Given the description of an element on the screen output the (x, y) to click on. 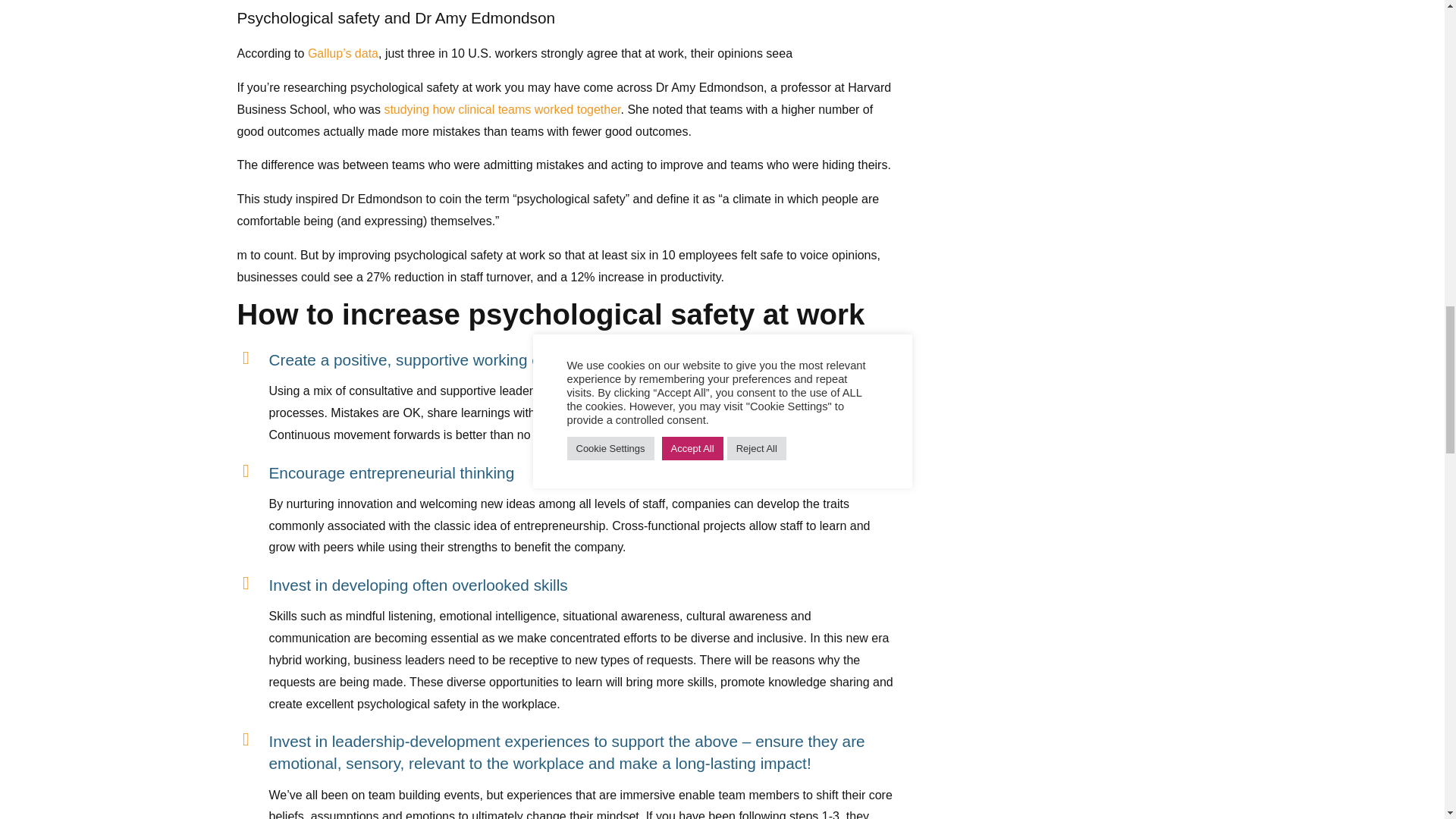
studying how clinical teams worked together (502, 109)
